Given the description of an element on the screen output the (x, y) to click on. 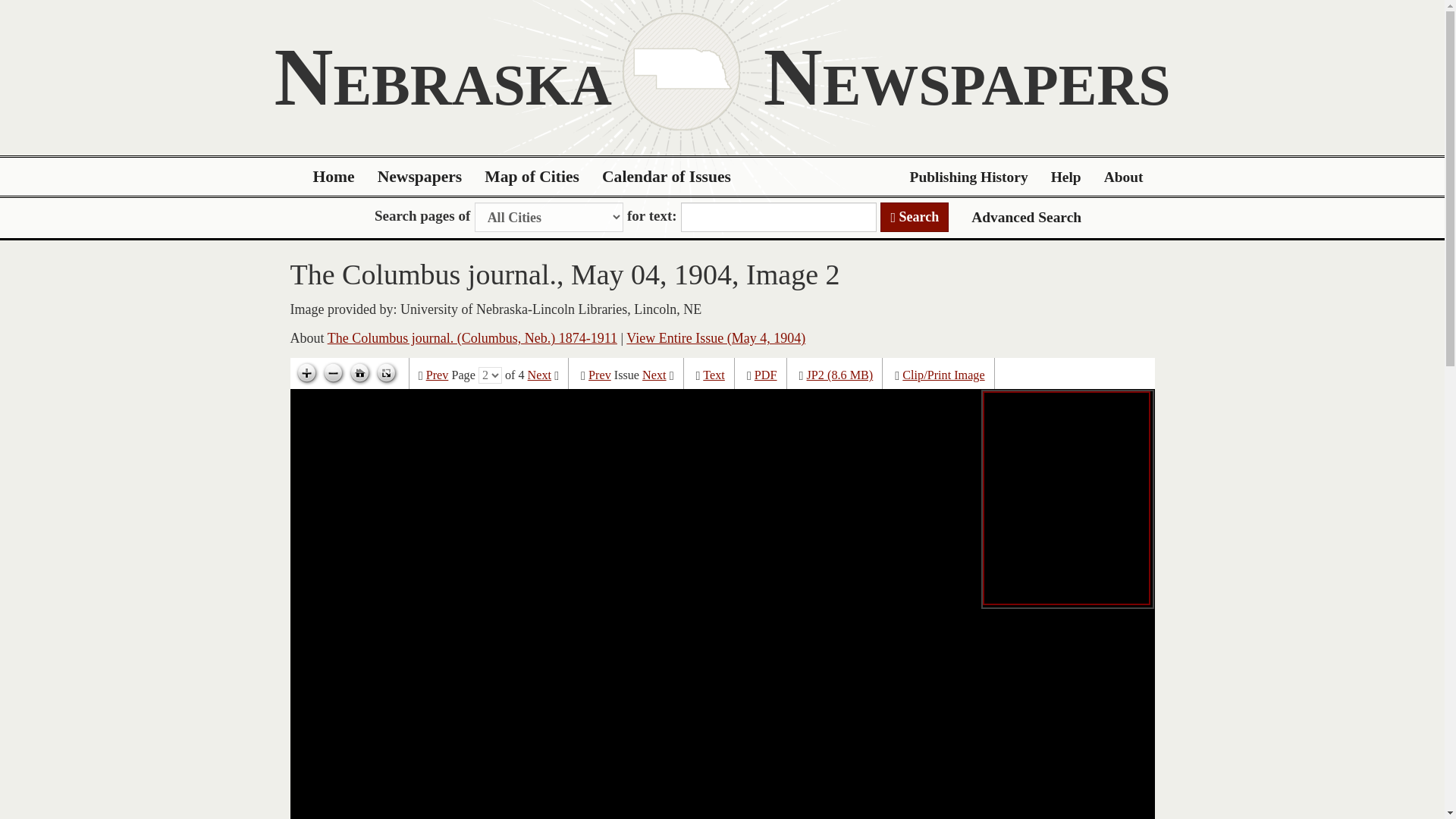
Next (539, 375)
Search (914, 217)
Newspapers (420, 176)
Map of Cities (532, 176)
Zoom out (333, 373)
Prev (599, 375)
Calendar of Issues (666, 176)
Go home (359, 373)
Home (333, 176)
Zoom in (307, 373)
